Given the description of an element on the screen output the (x, y) to click on. 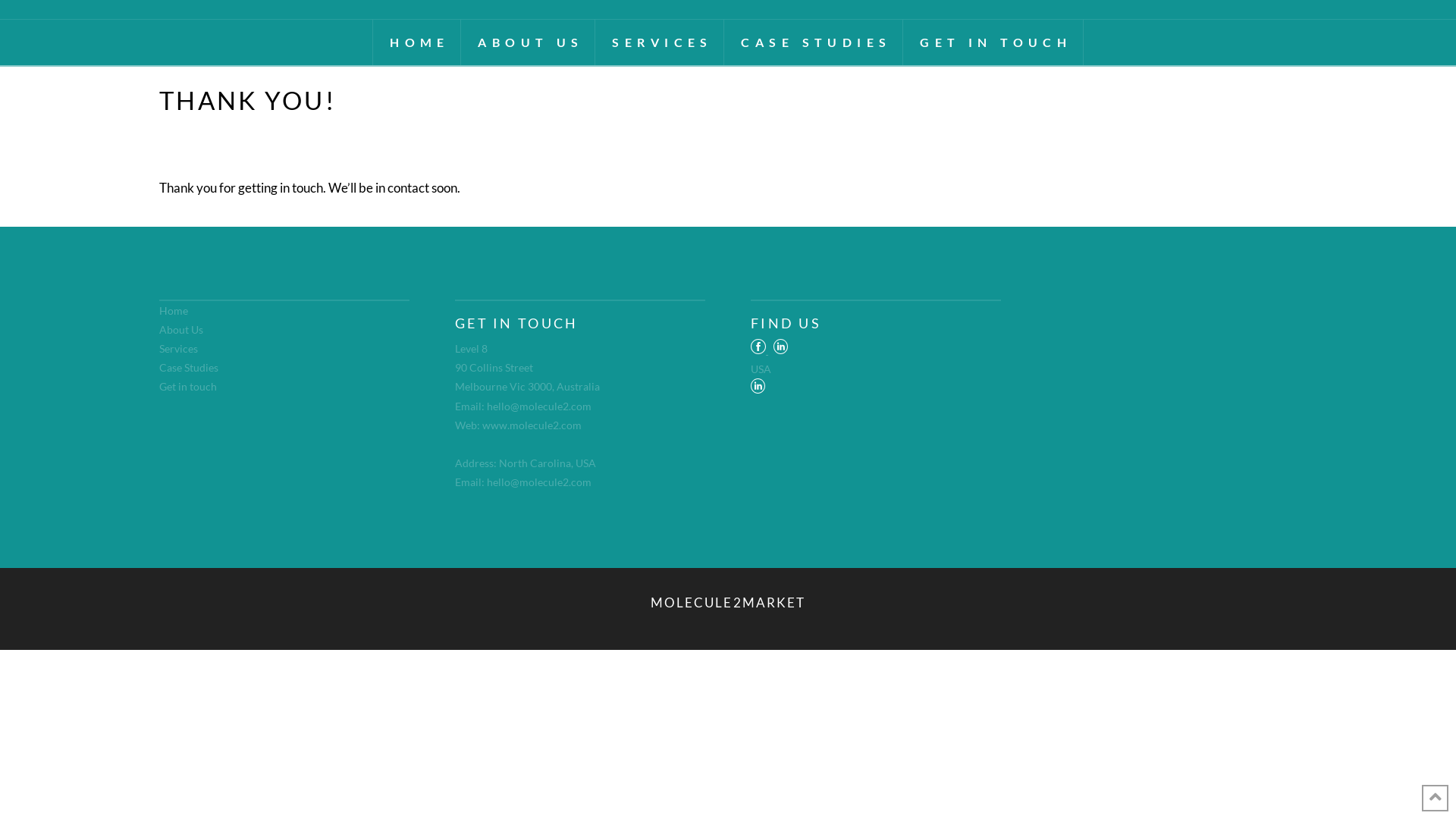
ABOUT US Element type: text (528, 42)
Back to Top Element type: hover (1434, 797)
Home Element type: text (173, 310)
Get in touch Element type: text (187, 385)
CASE STUDIES Element type: text (813, 42)
SERVICES Element type: text (659, 42)
Services Element type: text (178, 348)
Case Studies Element type: text (188, 366)
About Us Element type: text (181, 329)
GET IN TOUCH Element type: text (993, 42)
HOME Element type: text (416, 42)
